Given the description of an element on the screen output the (x, y) to click on. 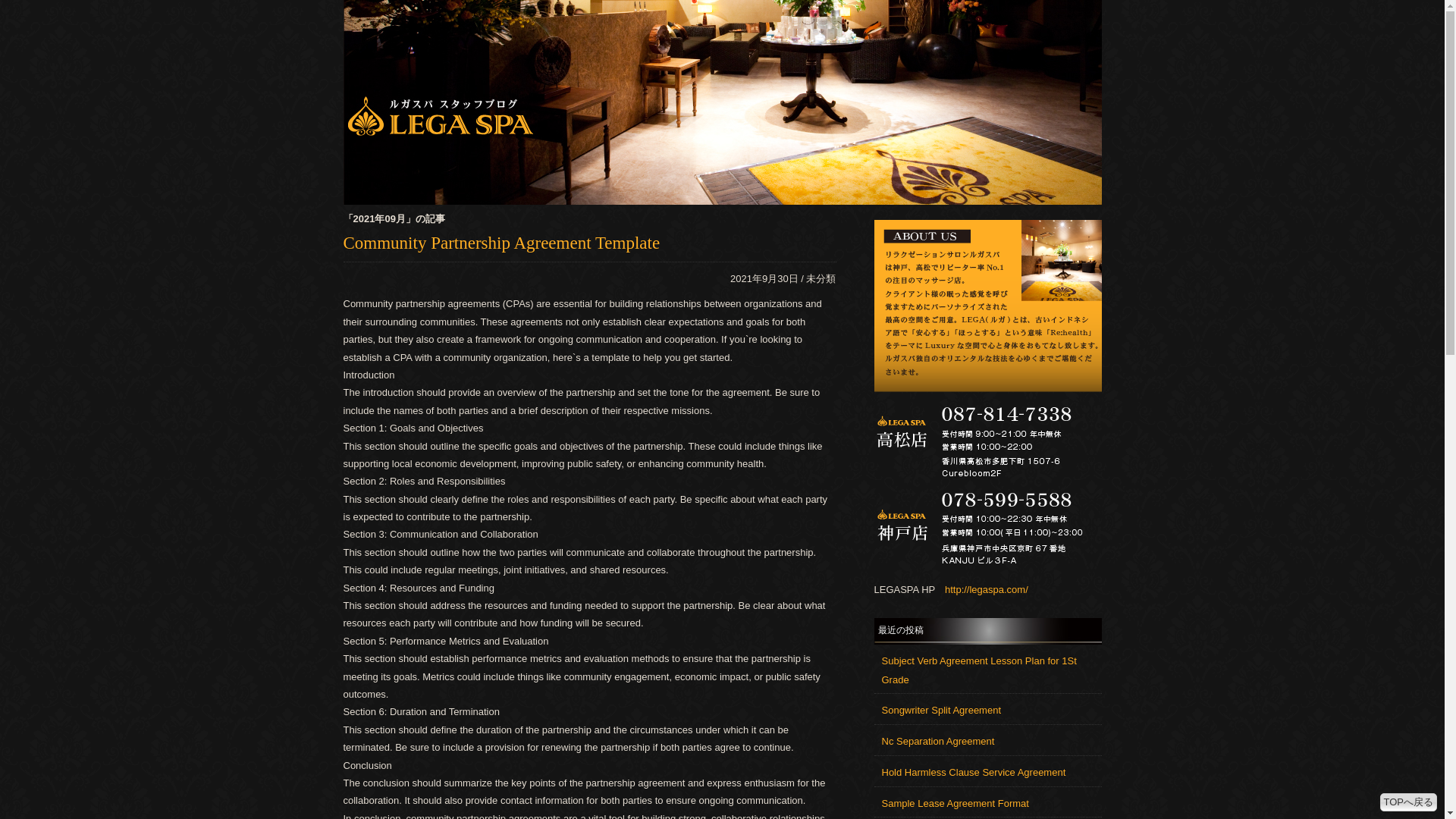
Nc Separation Agreement (937, 740)
Hold Harmless Clause Service Agreement (972, 772)
Subject Verb Agreement Lesson Plan for 1St Grade (977, 670)
Community Partnership Agreement Template (500, 242)
Songwriter Split Agreement (940, 709)
Sample Lease Agreement Format (953, 803)
